Given the description of an element on the screen output the (x, y) to click on. 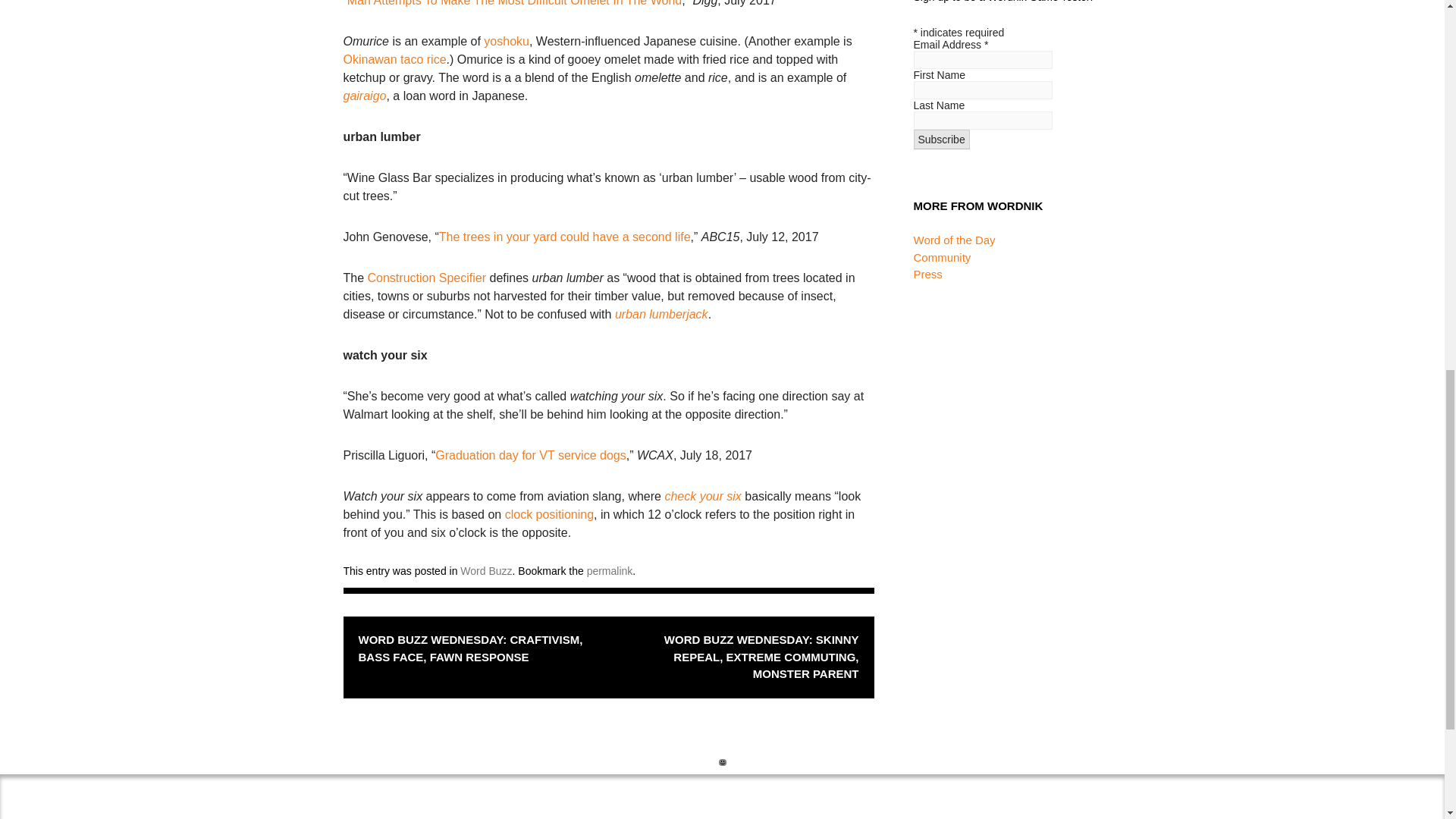
Press (927, 273)
WORD BUZZ WEDNESDAY: CRAFTIVISM, BASS FACE, FAWN RESPONSE (475, 648)
clock positioning (549, 513)
Construction Specifier (427, 277)
permalink (609, 571)
Subscribe (940, 139)
Okinawan taco rice (393, 59)
Word of the Day (953, 239)
yoshoku (506, 41)
gairaigo (363, 95)
Graduation day for VT service dogs (530, 454)
Community (941, 256)
urban lumberjack (660, 314)
Man Attempts To Make The Most Difficult Omelet In The World (514, 3)
